Given the description of an element on the screen output the (x, y) to click on. 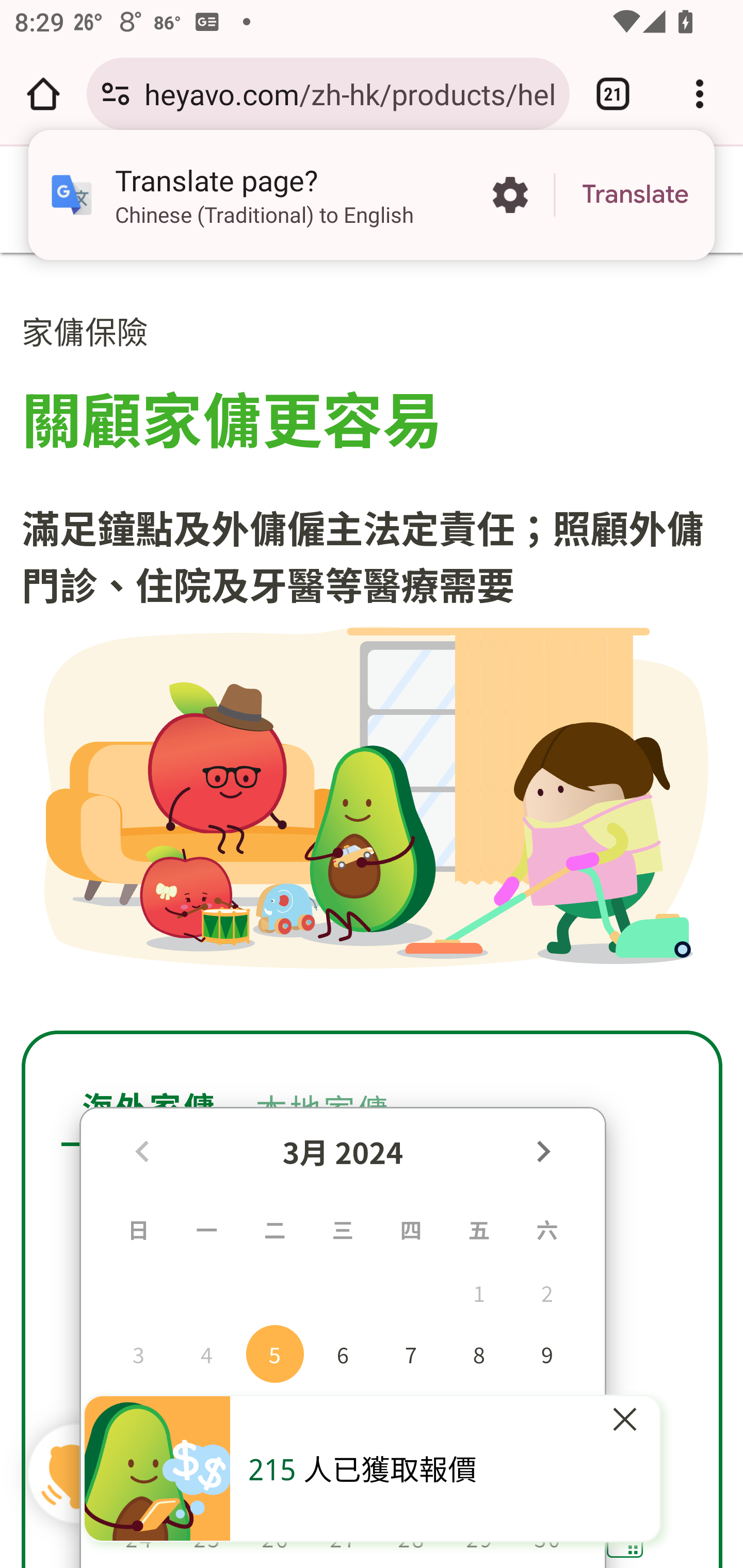
Open the home page (43, 93)
Connection is secure (115, 93)
Switch or close tabs (612, 93)
Customize and control Google Chrome (699, 93)
Translate (634, 195)
More options in the Translate page? (509, 195)
3月 2024 (343, 1150)
Previous month (141, 1149)
Next month (541, 1149)
1 (478, 1291)
2 (547, 1291)
3 (137, 1353)
4 (206, 1353)
5 (274, 1353)
6 (342, 1353)
7 (410, 1353)
8 (478, 1353)
9 (547, 1353)
